Given the description of an element on the screen output the (x, y) to click on. 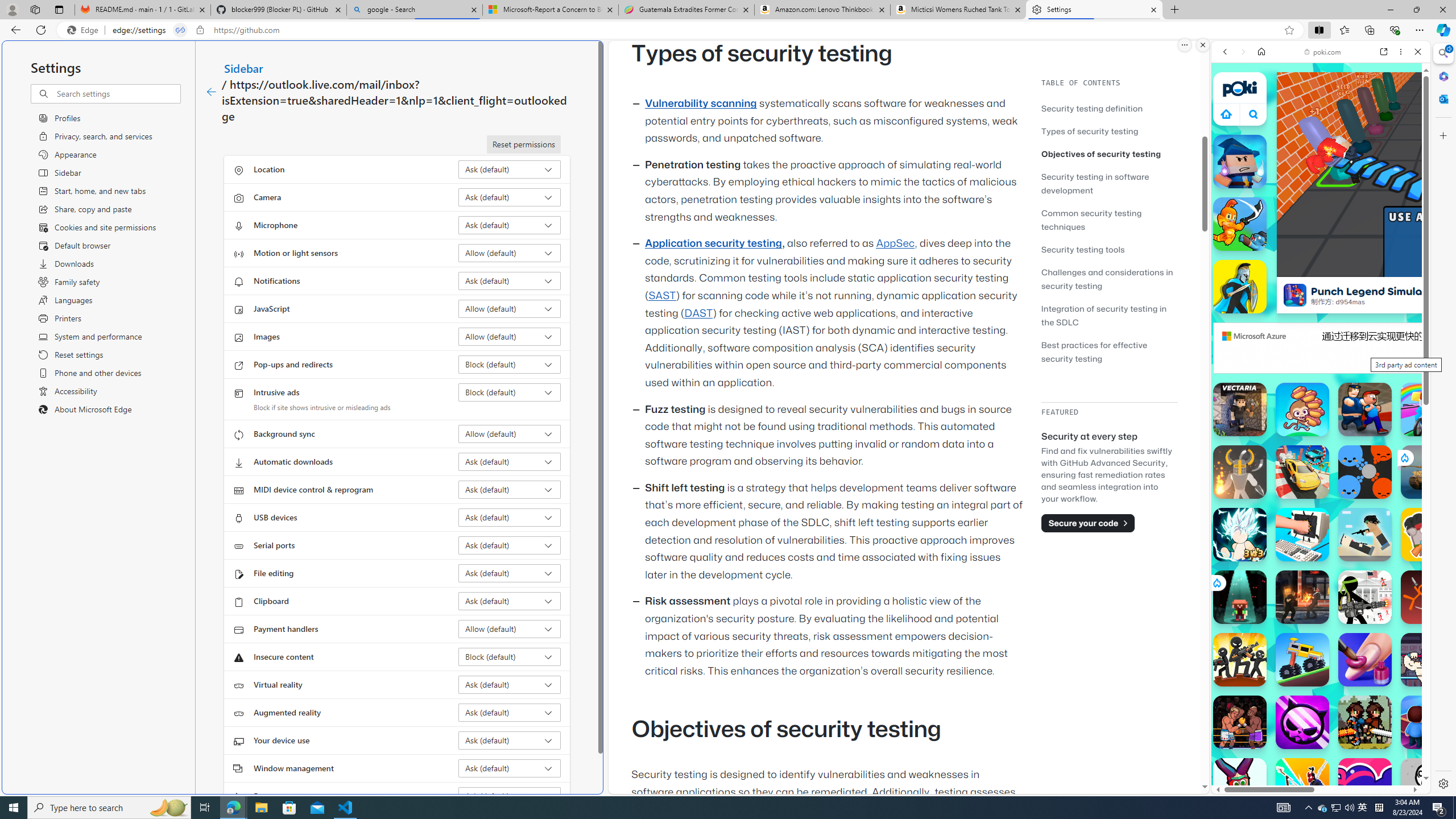
Quivershot (1239, 597)
